Given the description of an element on the screen output the (x, y) to click on. 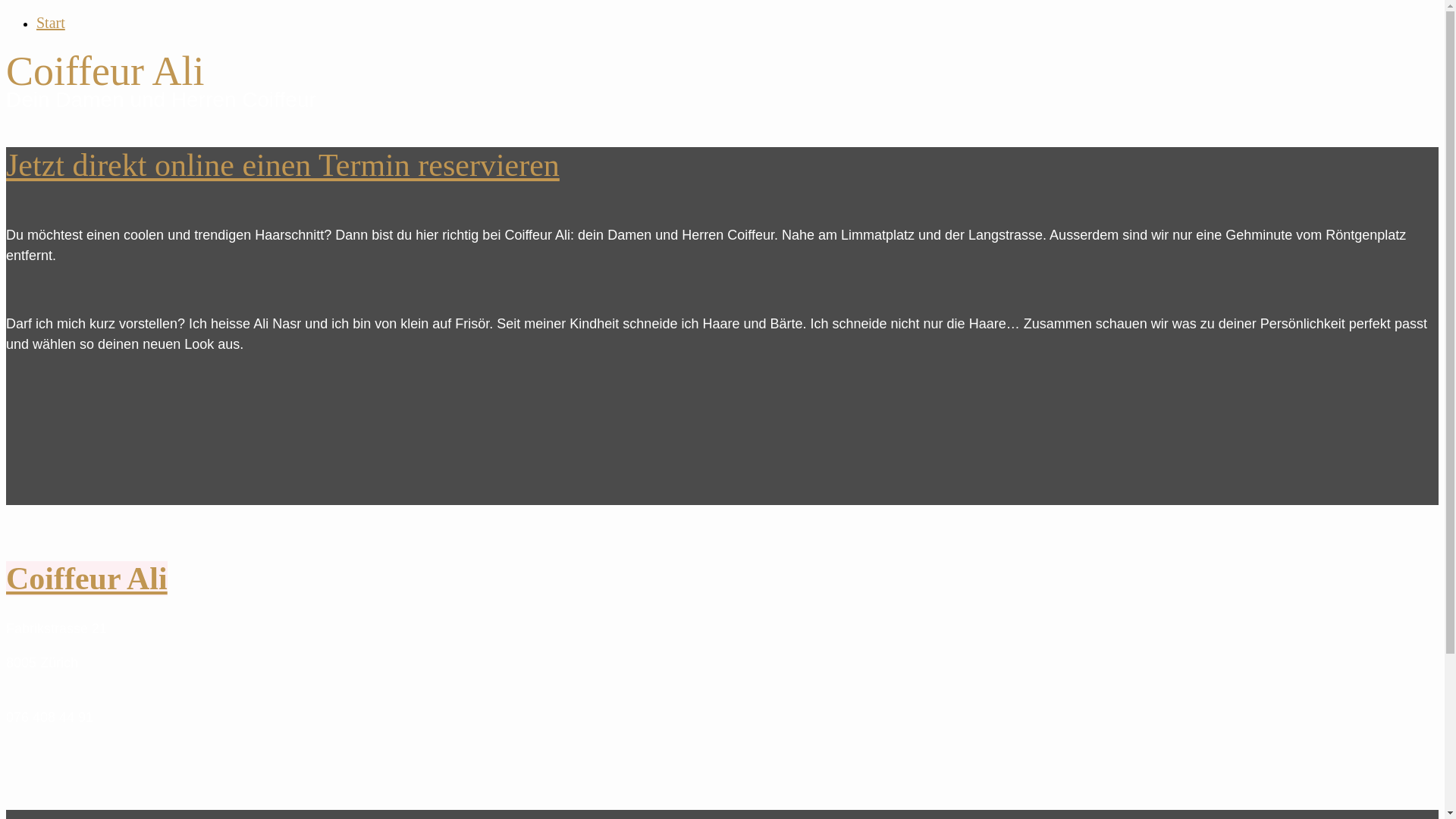
Coiffeur Ali Element type: text (86, 578)
Jetzt direkt online einen Termin reservieren Element type: text (282, 164)
Start Element type: text (50, 22)
